Given the description of an element on the screen output the (x, y) to click on. 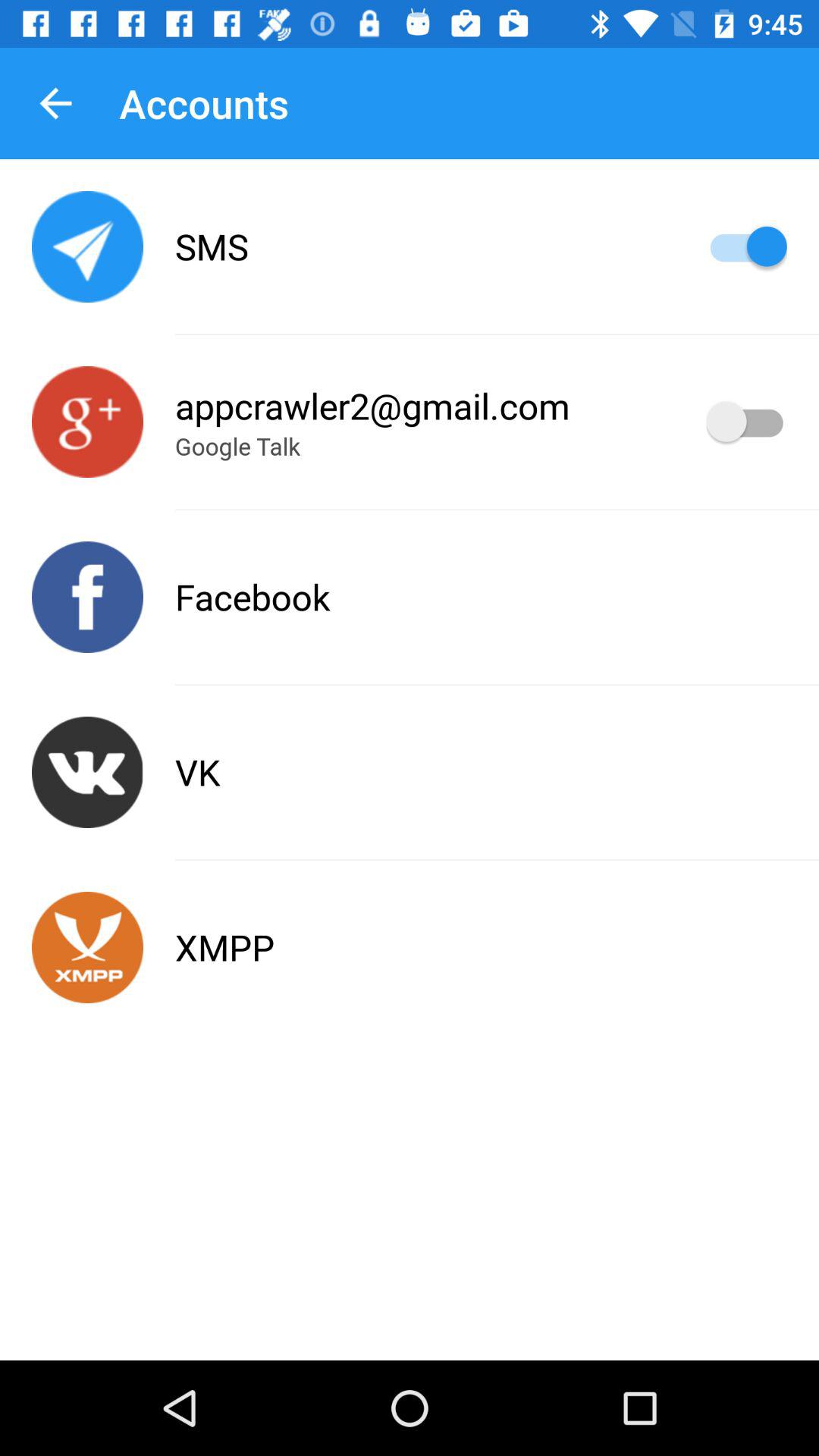
go to xmpp (87, 947)
